Given the description of an element on the screen output the (x, y) to click on. 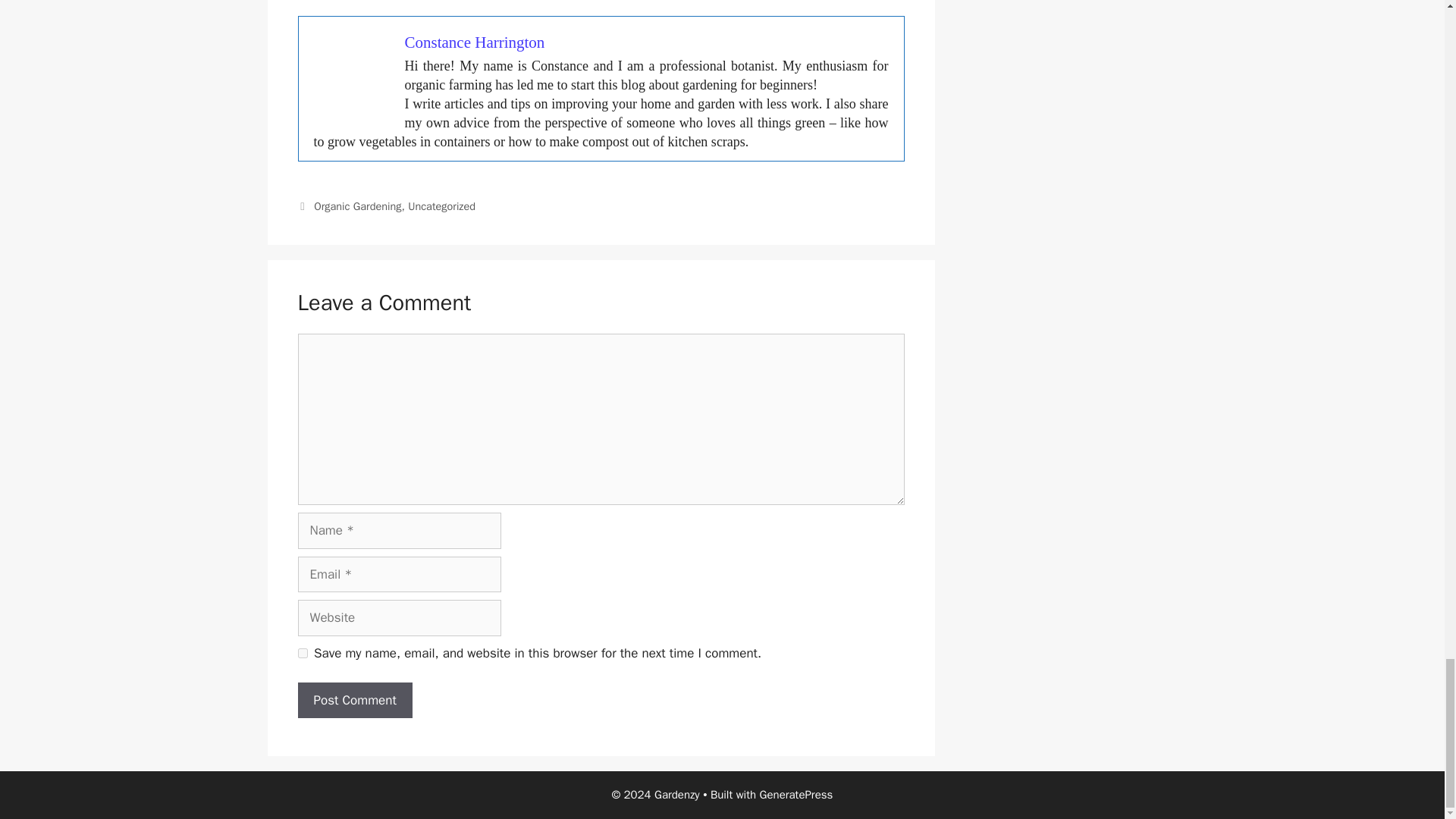
Post Comment (354, 700)
Uncategorized (441, 205)
yes (302, 653)
Organic Gardening (357, 205)
Post Comment (354, 700)
GeneratePress (796, 794)
Constance Harrington (474, 42)
